Given the description of an element on the screen output the (x, y) to click on. 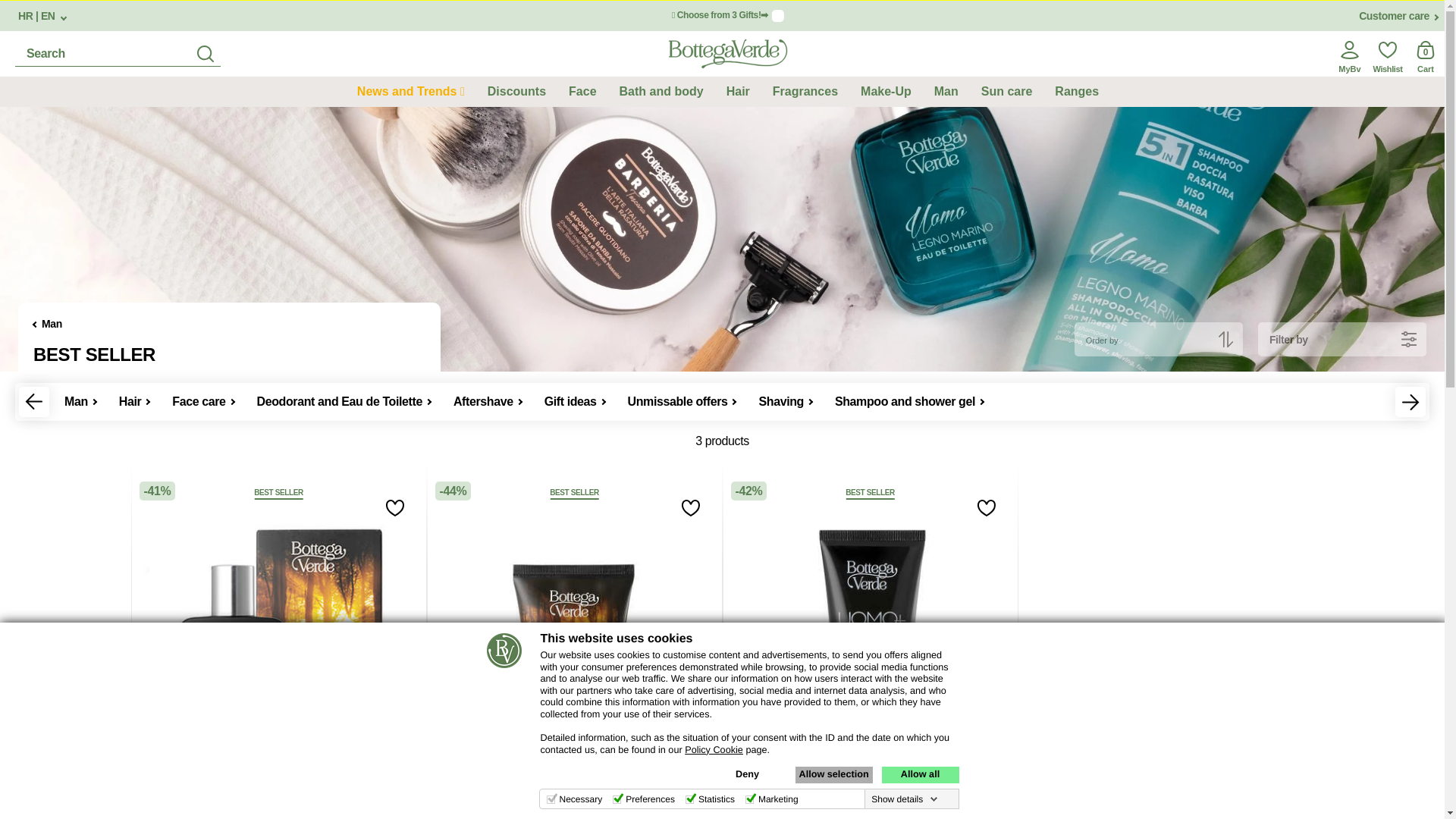
Deny (746, 774)
Allow all (919, 774)
Show details (903, 799)
Policy Cookie (713, 749)
Allow selection (833, 774)
